Given the description of an element on the screen output the (x, y) to click on. 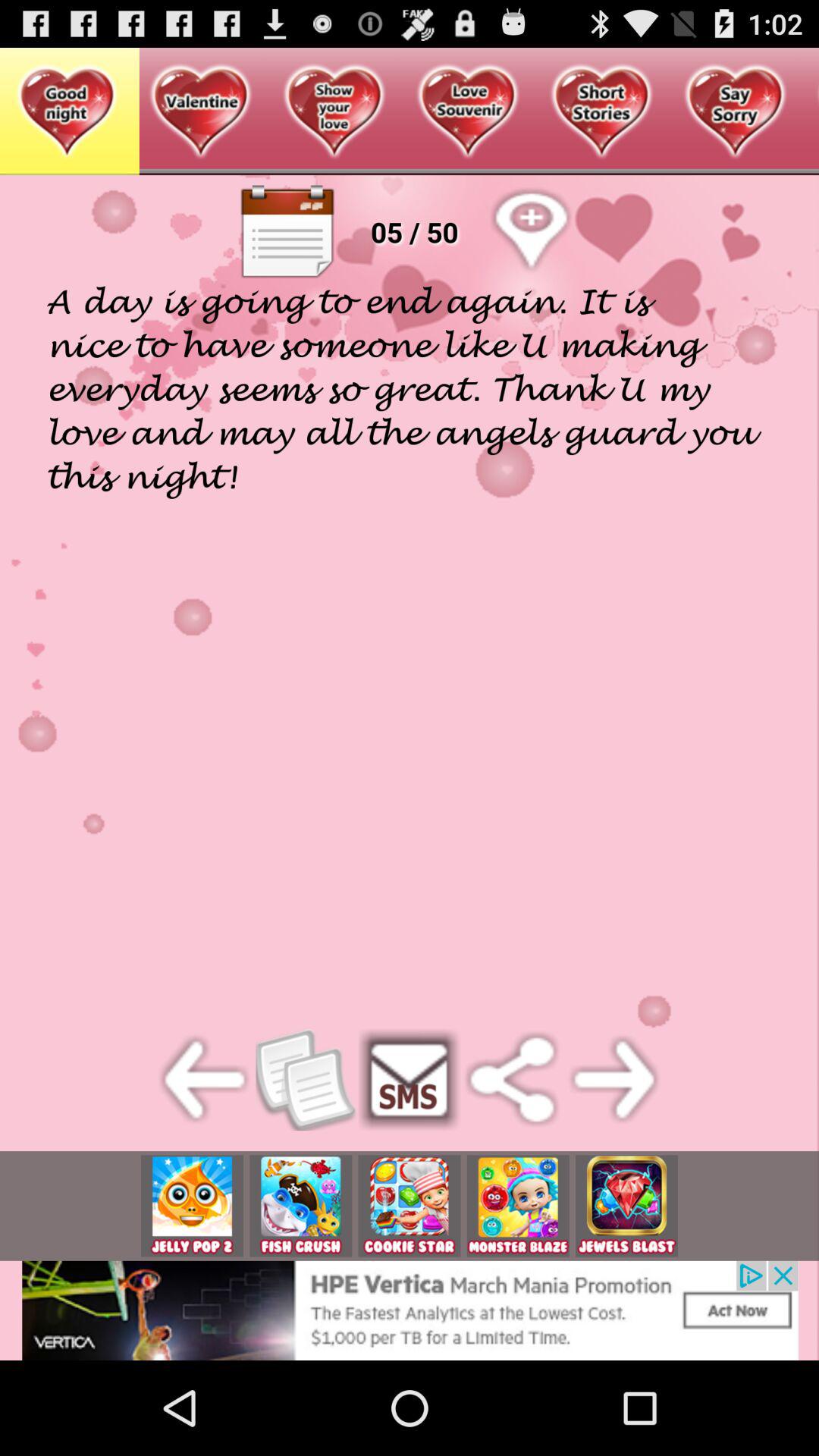
go to next (614, 1079)
